Given the description of an element on the screen output the (x, y) to click on. 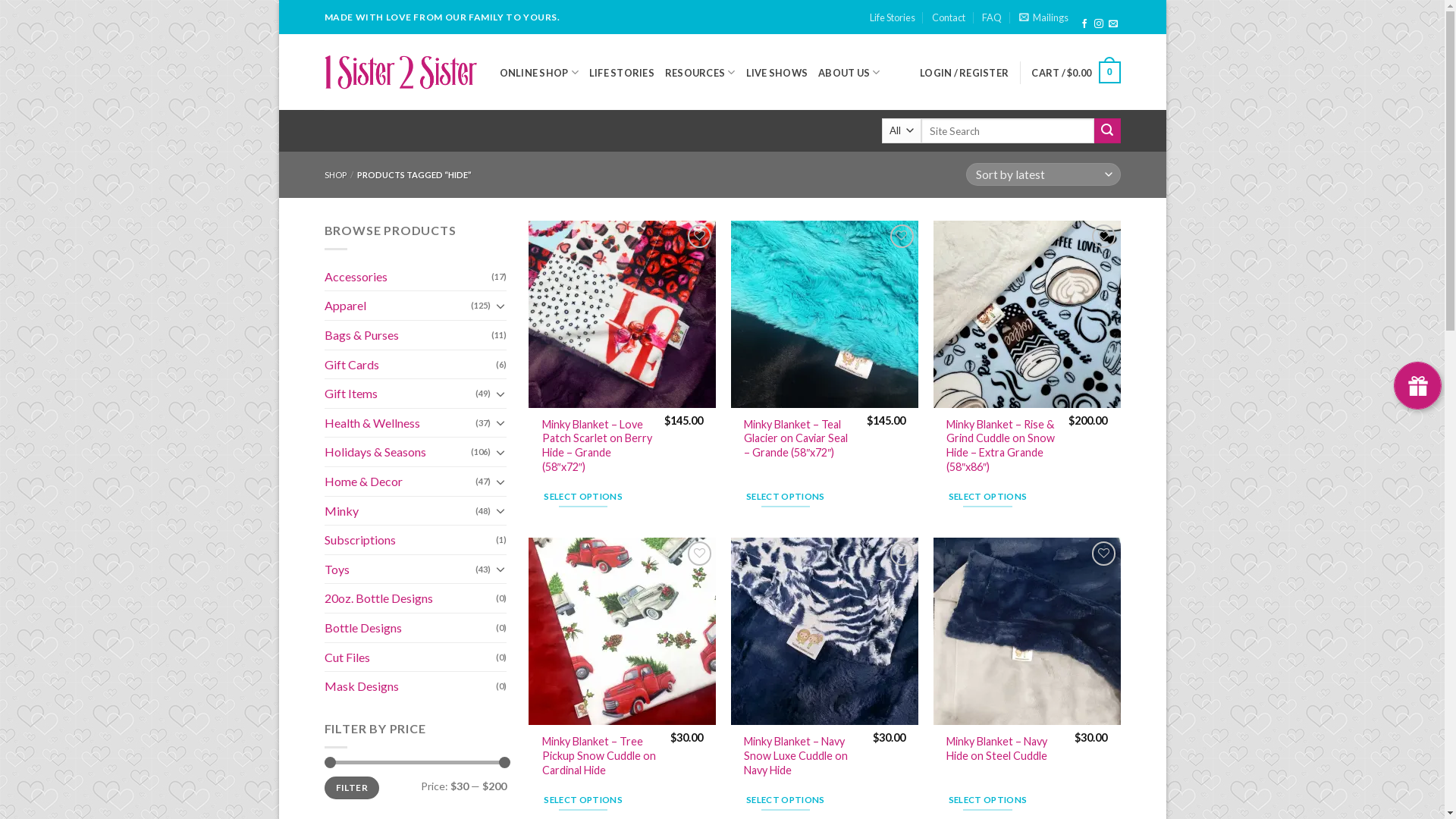
Send us an email Element type: hover (1112, 23)
Life Stories Element type: text (892, 17)
SELECT OPTIONS Element type: text (784, 799)
FAQ Element type: text (991, 17)
Mask Designs Element type: text (409, 685)
Cut Files Element type: text (409, 657)
Search Element type: text (1107, 131)
SELECT OPTIONS Element type: text (583, 496)
LIVE SHOWS Element type: text (777, 72)
SELECT OPTIONS Element type: text (784, 496)
Follow on Facebook Element type: hover (1083, 23)
RESOURCES Element type: text (700, 72)
CART / $0.00
0 Element type: text (1075, 72)
Accessories Element type: text (407, 276)
Apparel Element type: text (397, 305)
Bottle Designs Element type: text (409, 627)
LIFE STORIES Element type: text (621, 72)
SHOP Element type: text (335, 174)
Follow on Instagram Element type: hover (1098, 23)
ONLINE SHOP Element type: text (537, 72)
ABOUT US Element type: text (849, 72)
Health & Wellness Element type: text (399, 422)
Toys Element type: text (399, 569)
LOGIN / REGISTER Element type: text (963, 72)
Contact Element type: text (948, 17)
SELECT OPTIONS Element type: text (583, 799)
SELECT OPTIONS Element type: text (987, 799)
SELECT OPTIONS Element type: text (987, 496)
Mailings Element type: text (1043, 17)
Gift Cards Element type: text (409, 364)
FILTER Element type: text (351, 788)
20oz. Bottle Designs Element type: text (409, 597)
Minky Element type: text (399, 510)
Subscriptions Element type: text (409, 539)
1 Sister 2 Sister - Embroidery Boutique and More Element type: hover (400, 71)
Holidays & Seasons Element type: text (397, 451)
Bags & Purses Element type: text (407, 334)
Home & Decor Element type: text (399, 481)
Gift Items Element type: text (399, 393)
